Given the description of an element on the screen output the (x, y) to click on. 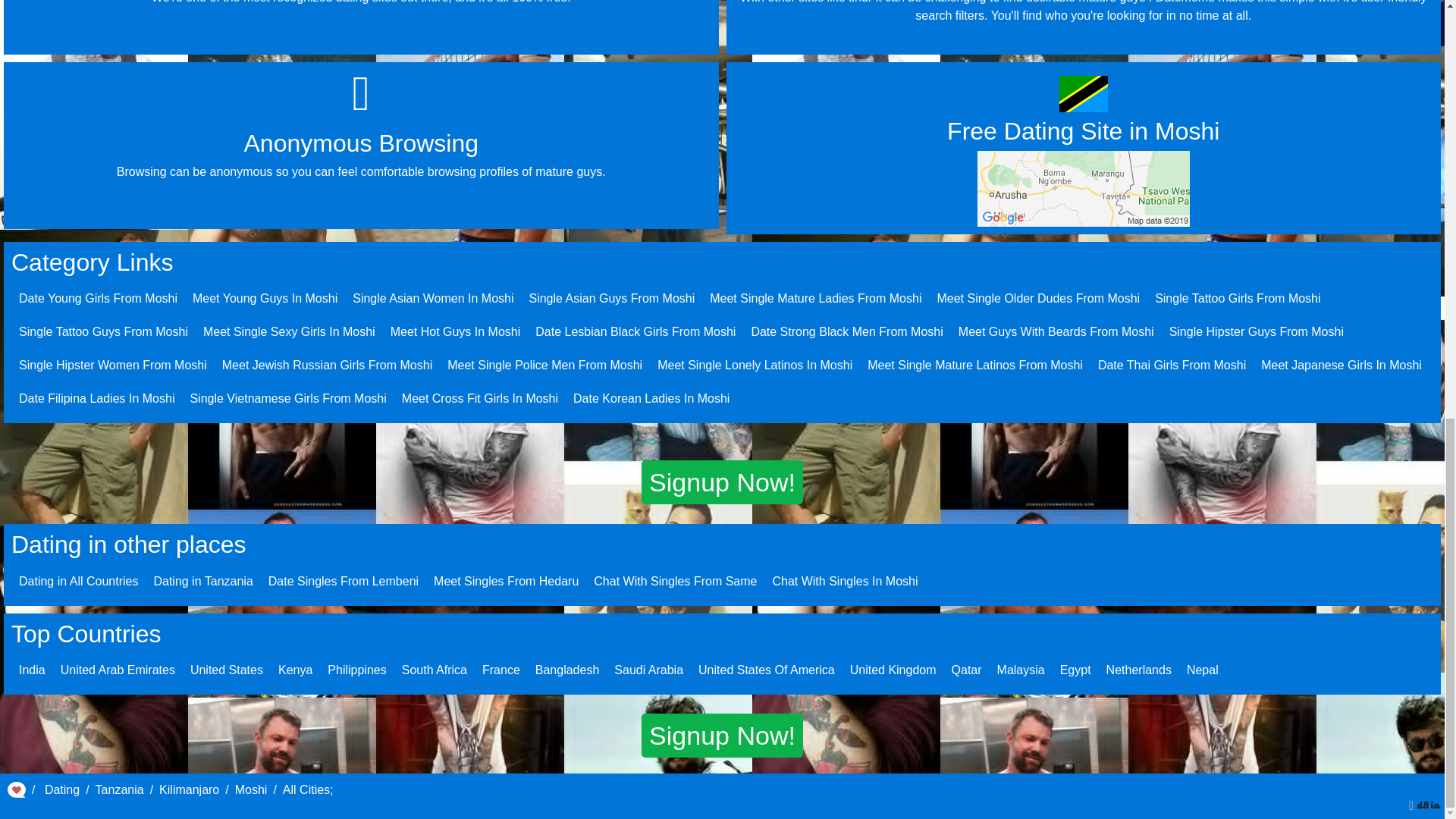
Date Young Girls From Moshi (97, 297)
Single Asian Women In Moshi (432, 297)
Meet Young Guys In Moshi (264, 297)
Single Asian Guys From Moshi (611, 297)
